Given the description of an element on the screen output the (x, y) to click on. 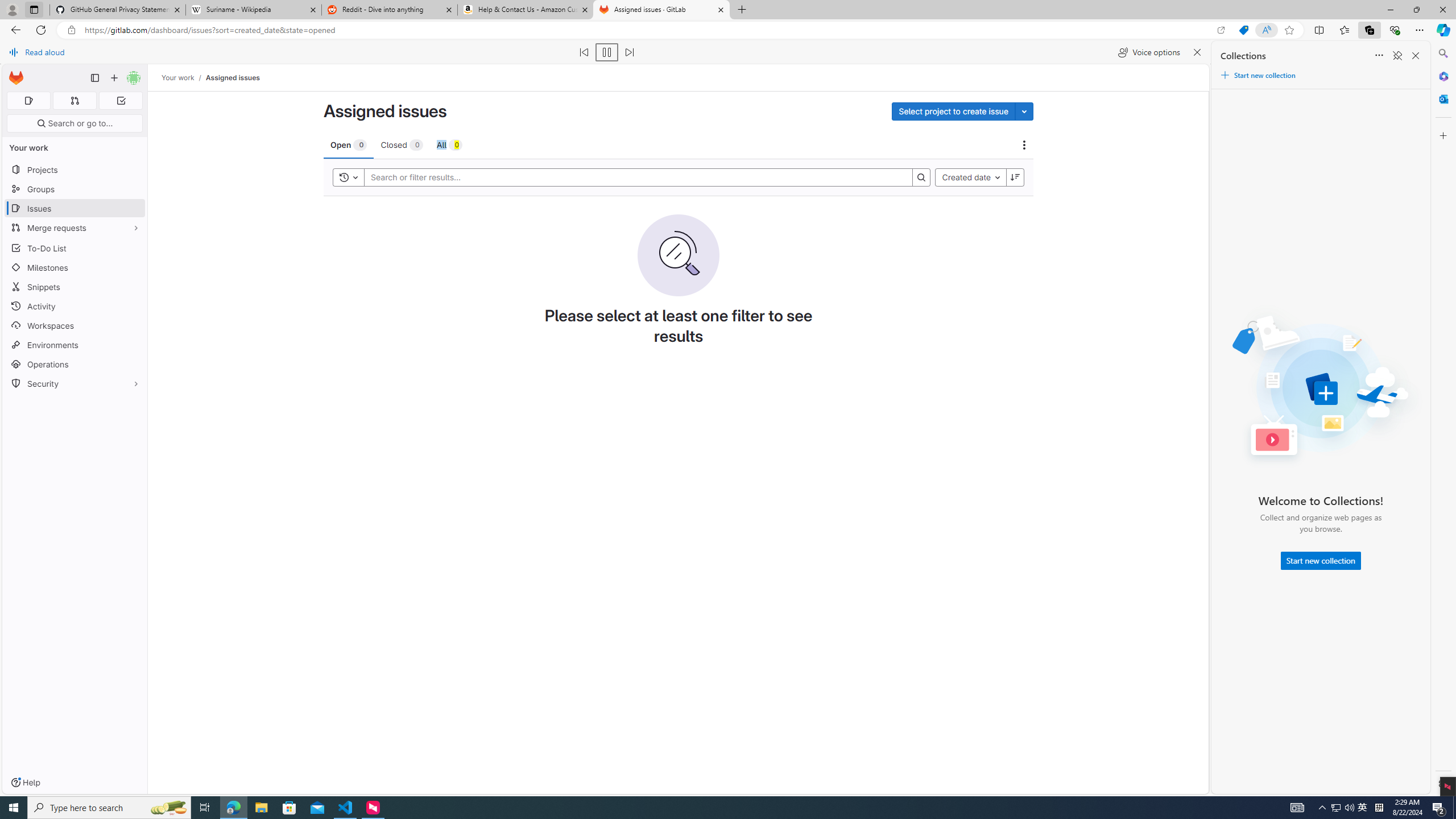
Security (74, 383)
Your work/ (183, 77)
Unpin Collections (1397, 55)
Milestones (74, 266)
Suriname - Wikipedia (253, 9)
Close Collections (1415, 55)
Security (74, 383)
